Given the description of an element on the screen output the (x, y) to click on. 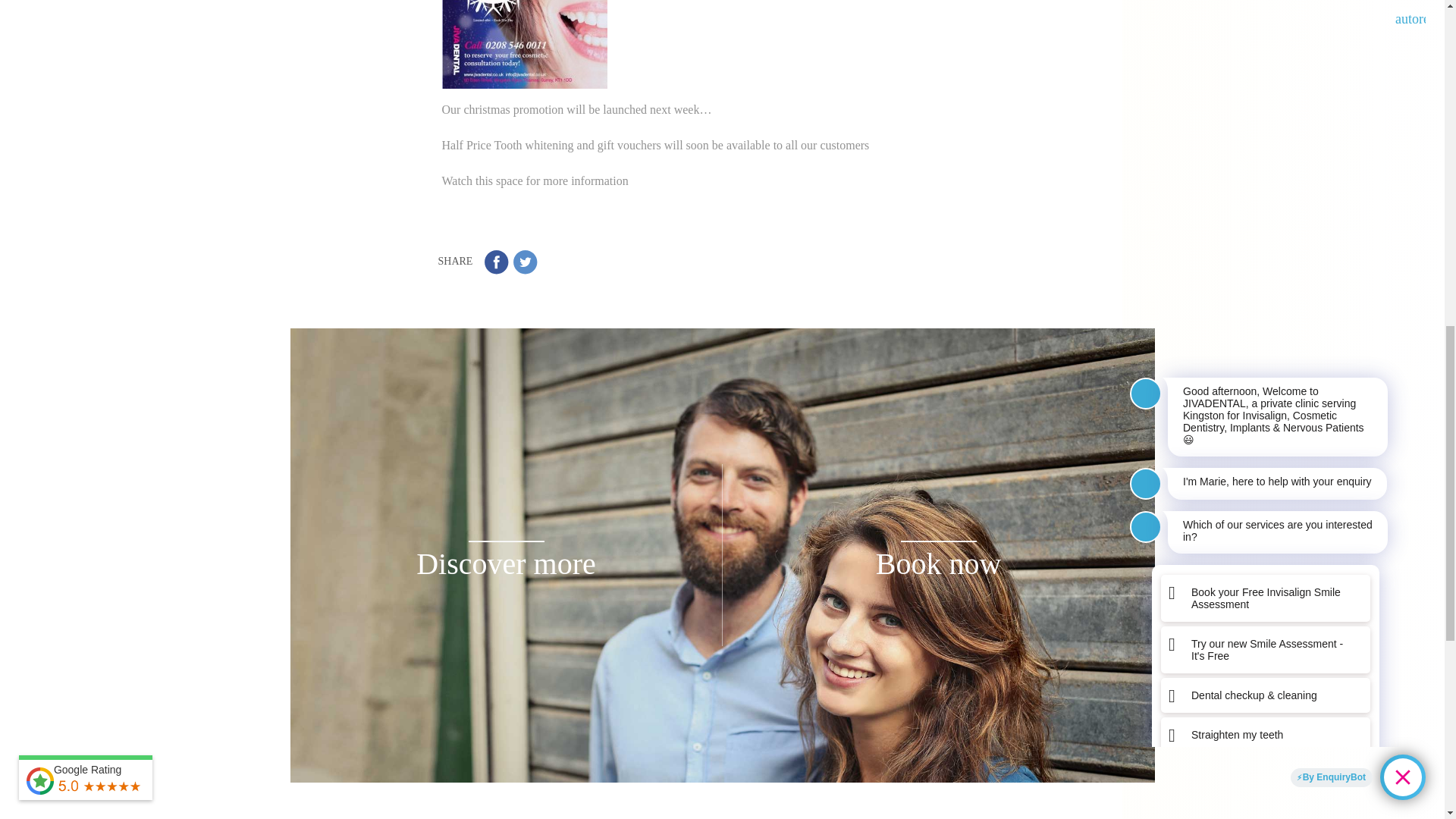
jivadental-christmas (524, 44)
Facebook Share (496, 261)
Twitter Share (525, 261)
